Given the description of an element on the screen output the (x, y) to click on. 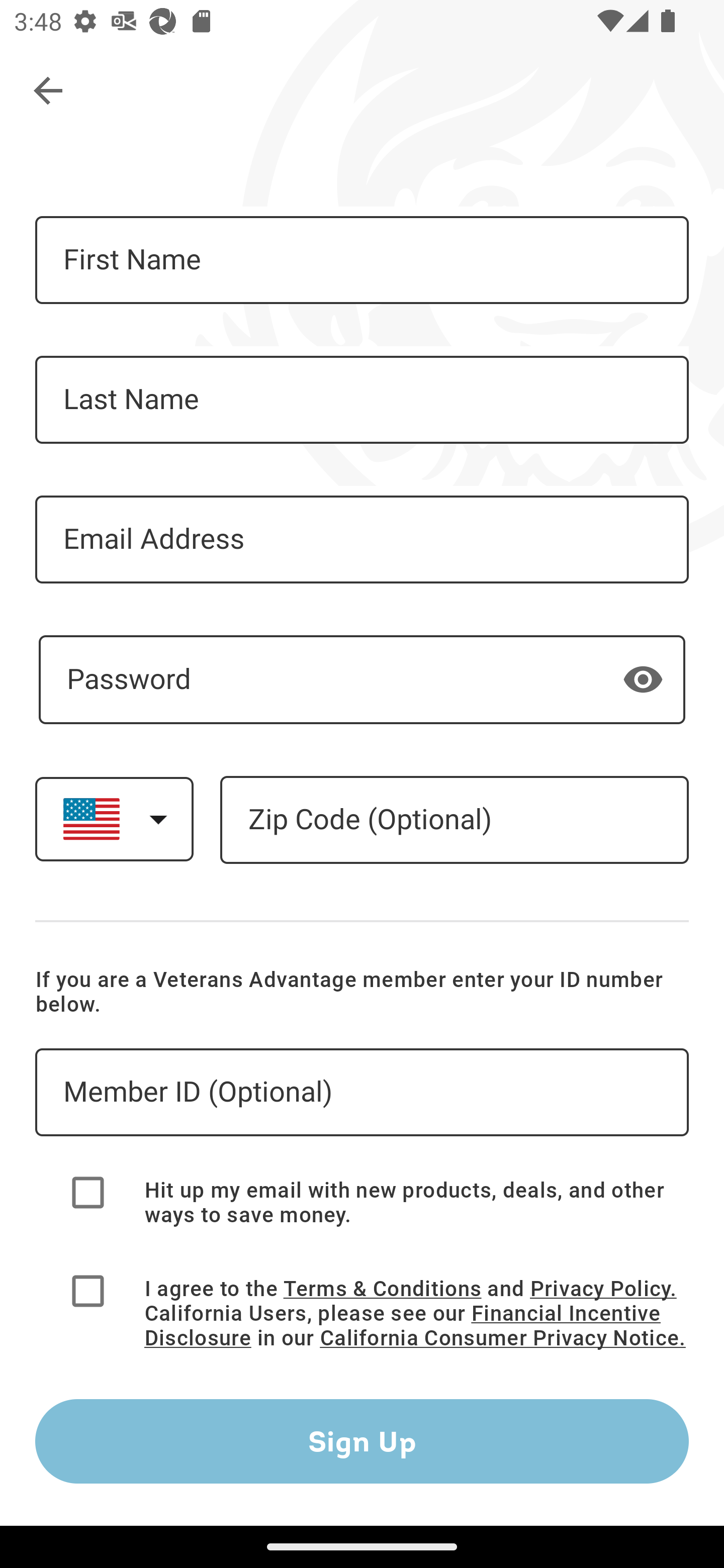
Navigate up (49, 91)
First Name - Required (361, 260)
Last Name - Required (361, 399)
Email Address - Required (361, 539)
- Required (361, 679)
Show password (642, 678)
Zip Code – Optional (454, 819)
Select a country. United States selected. (114, 818)
Veterans Advantage ID – Optional (361, 1092)
Sign Up (361, 1440)
